Given the description of an element on the screen output the (x, y) to click on. 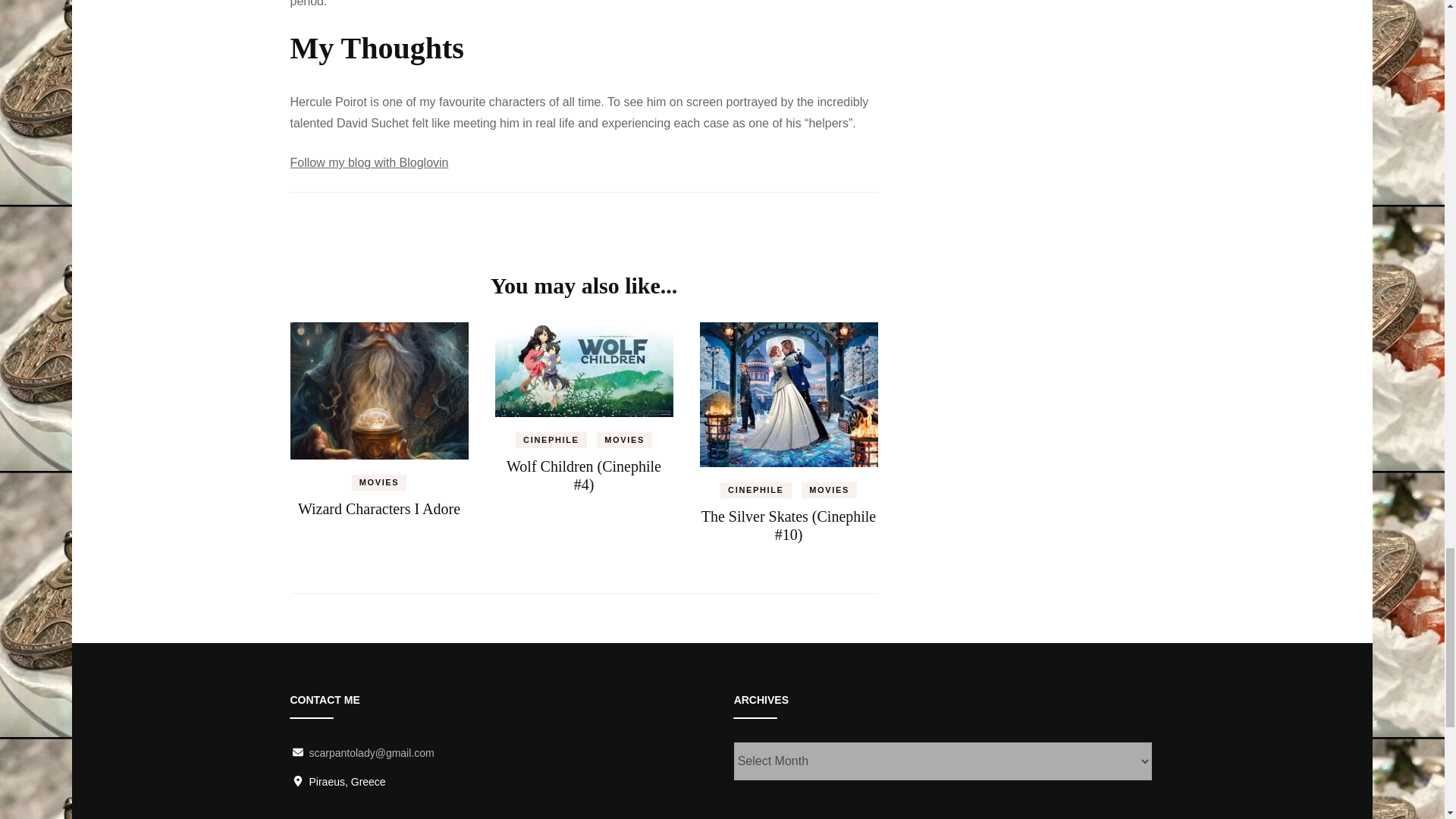
Wizard Characters I Adore (379, 508)
MOVIES (379, 482)
Follow my blog with Bloglovin (368, 162)
